Given the description of an element on the screen output the (x, y) to click on. 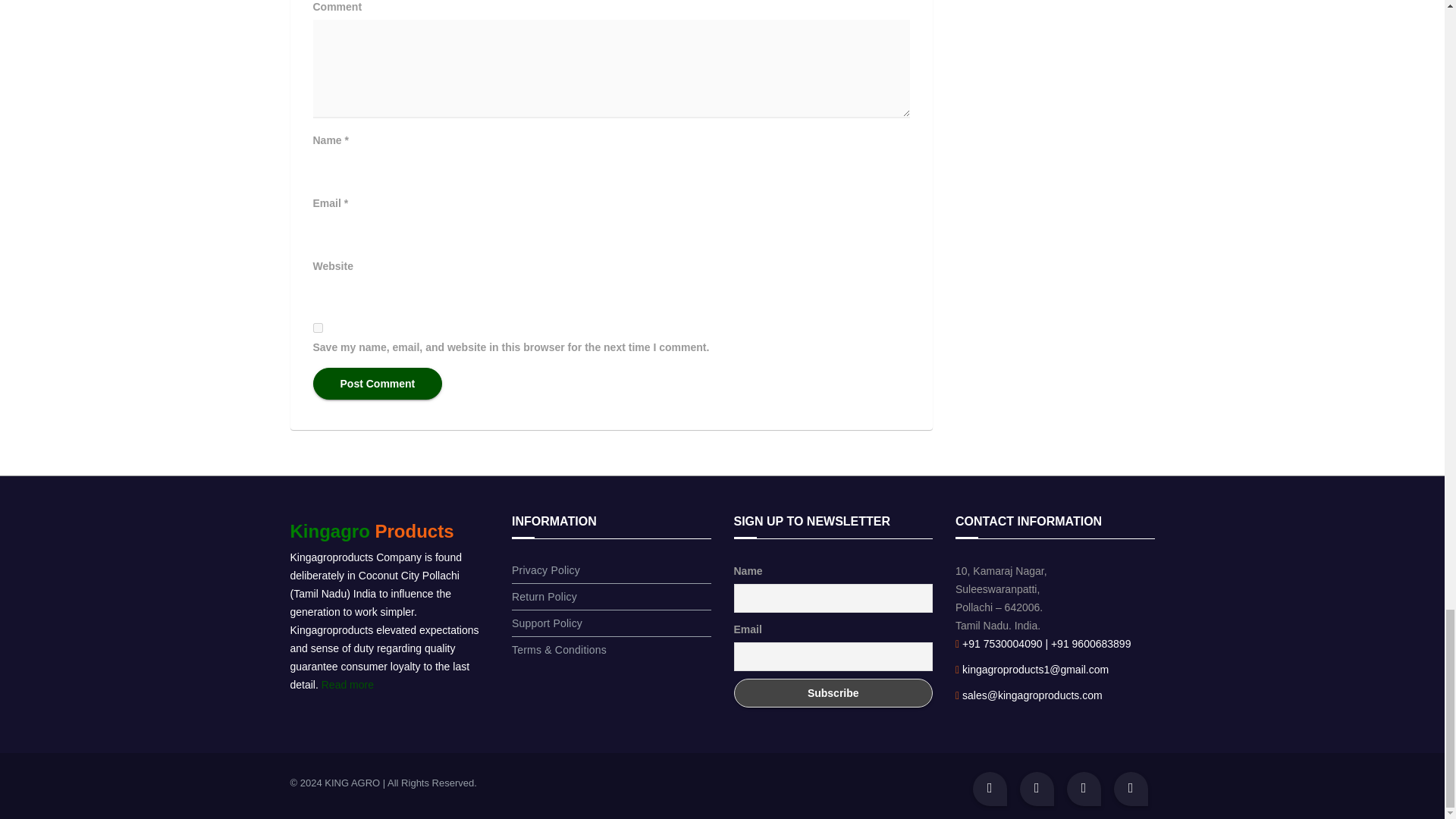
Subscribe (833, 692)
Read more (347, 684)
yes (317, 327)
Post Comment (377, 383)
Subscribe (833, 692)
Post Comment (377, 383)
